Given the description of an element on the screen output the (x, y) to click on. 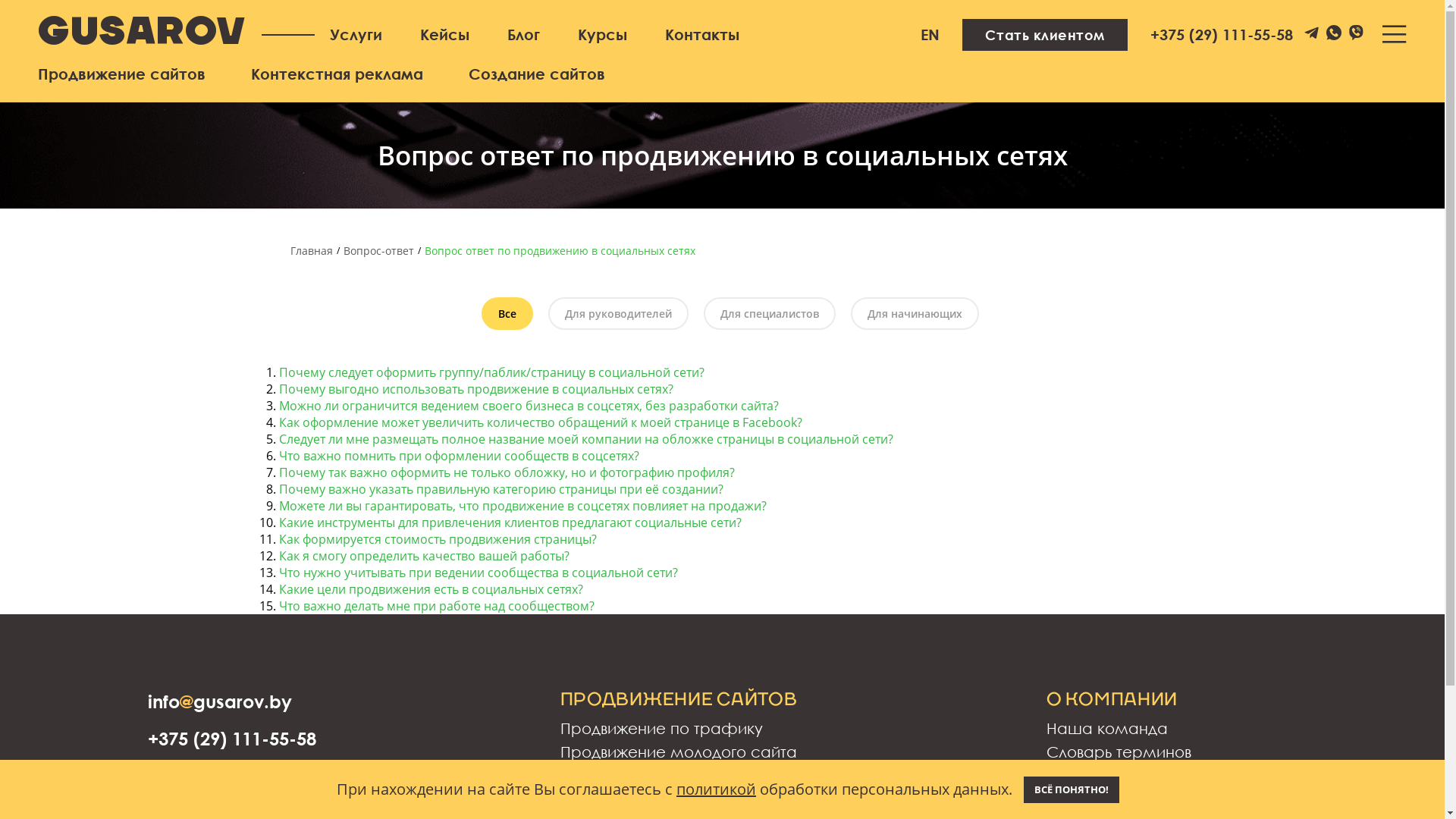
EN Element type: text (929, 34)
+375 (29) 111-55-58 Element type: text (231, 738)
+375 (29) 111-55-58 Element type: text (1221, 34)
info@gusarov.by Element type: text (219, 701)
GUSAROV Element type: text (141, 34)
